Given the description of an element on the screen output the (x, y) to click on. 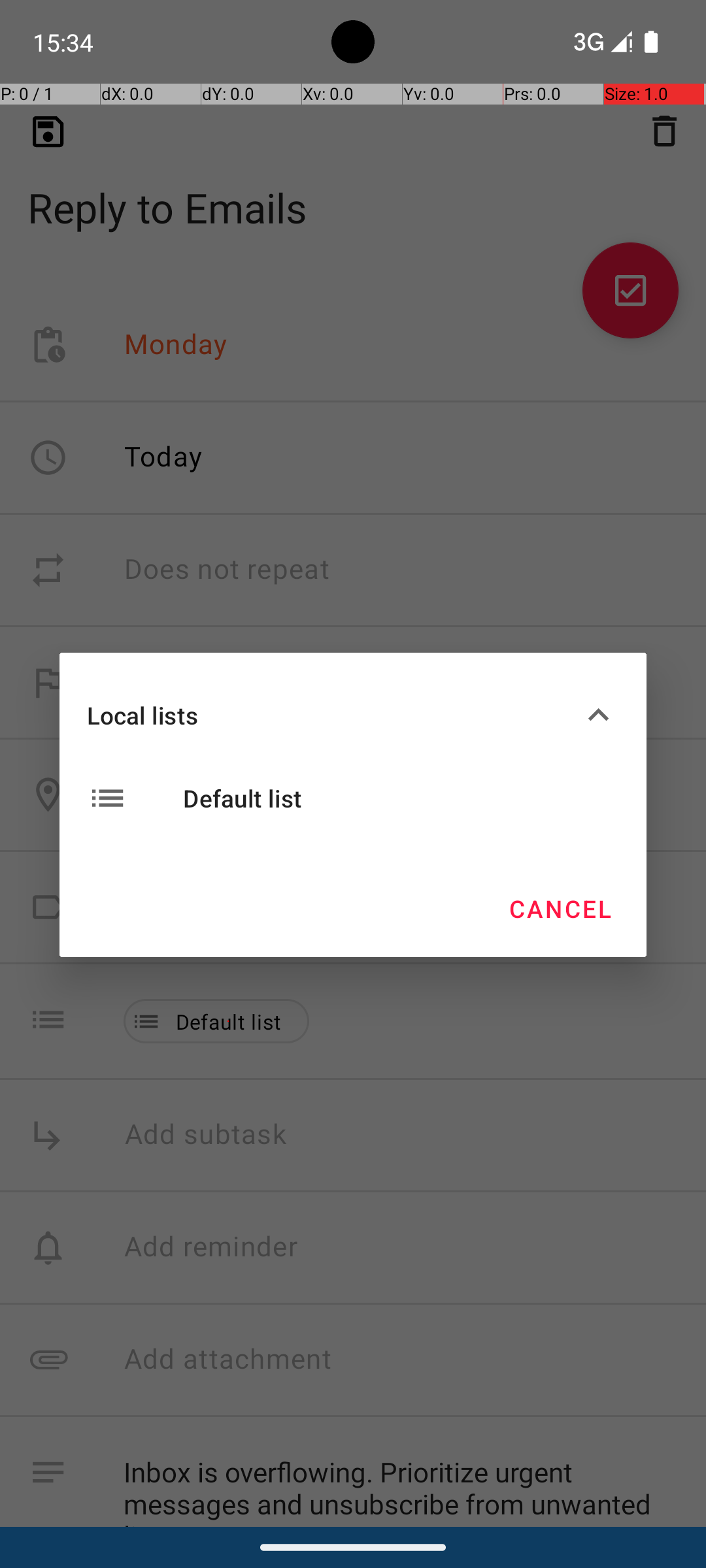
Local lists Element type: android.widget.TextView (331, 715)
